Given the description of an element on the screen output the (x, y) to click on. 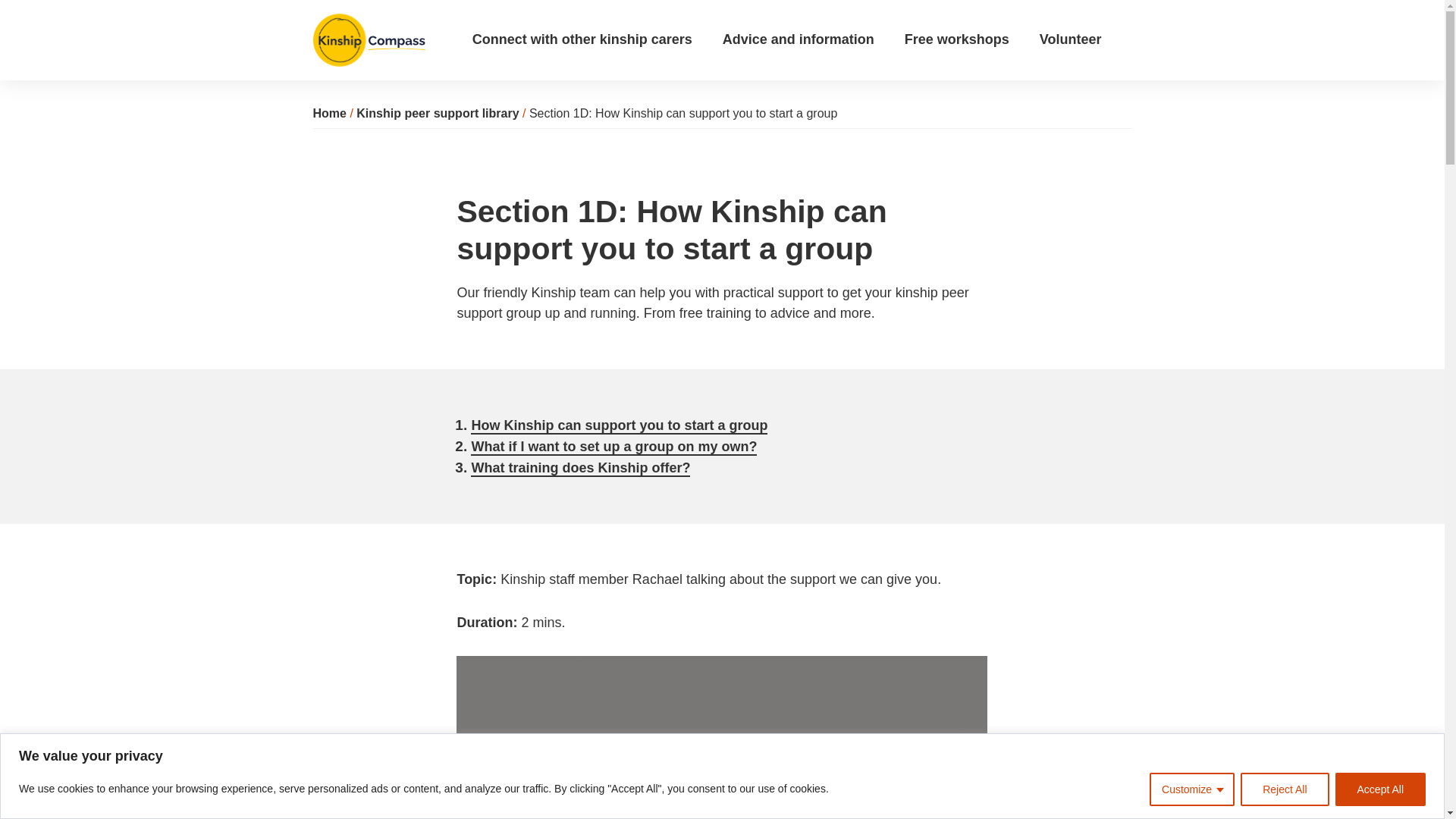
Customize (1192, 788)
Reject All (1283, 788)
Accept All (1380, 788)
Advice and information (813, 40)
Connect with other kinship carers (596, 40)
Free workshops (971, 40)
Volunteer (1085, 40)
